Given the description of an element on the screen output the (x, y) to click on. 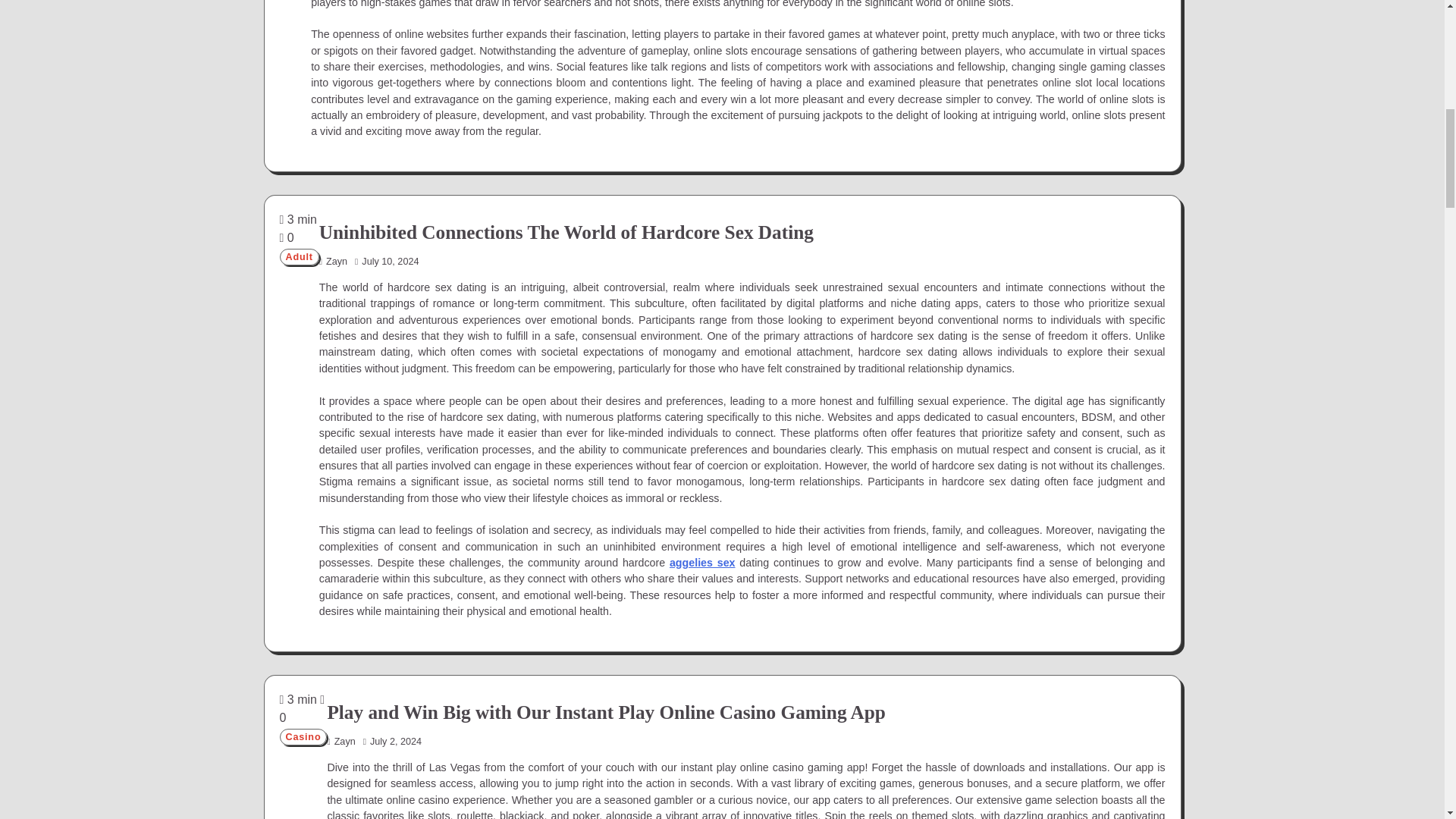
Adult (298, 256)
Zayn (332, 261)
Casino (302, 736)
aggelies sex (702, 562)
Uninhibited Connections The World of Hardcore Sex Dating (565, 231)
Zayn (340, 741)
